Given the description of an element on the screen output the (x, y) to click on. 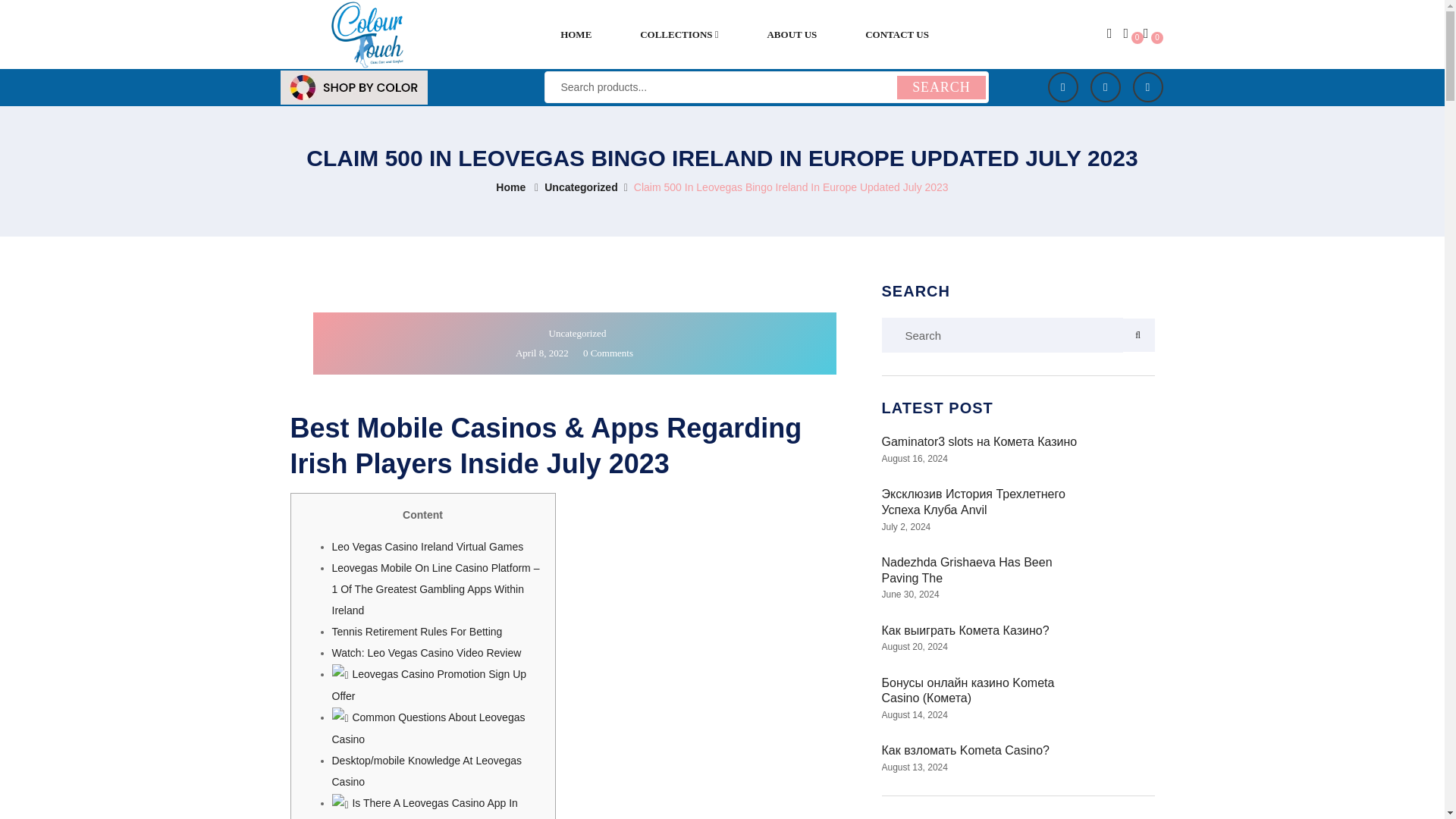
ABOUT US (791, 34)
Common Questions About Leovegas Casino (428, 728)
Home (510, 187)
CONTACT US (896, 34)
Watch: Leo Vegas Casino Video Review (426, 653)
COLLECTIONS (678, 34)
Leovegas Casino Promotion Sign Up Offer (429, 684)
April 8, 2022 (542, 352)
Leo Vegas Casino Ireland Virtual Games (427, 546)
Uncategorized (580, 187)
